Given the description of an element on the screen output the (x, y) to click on. 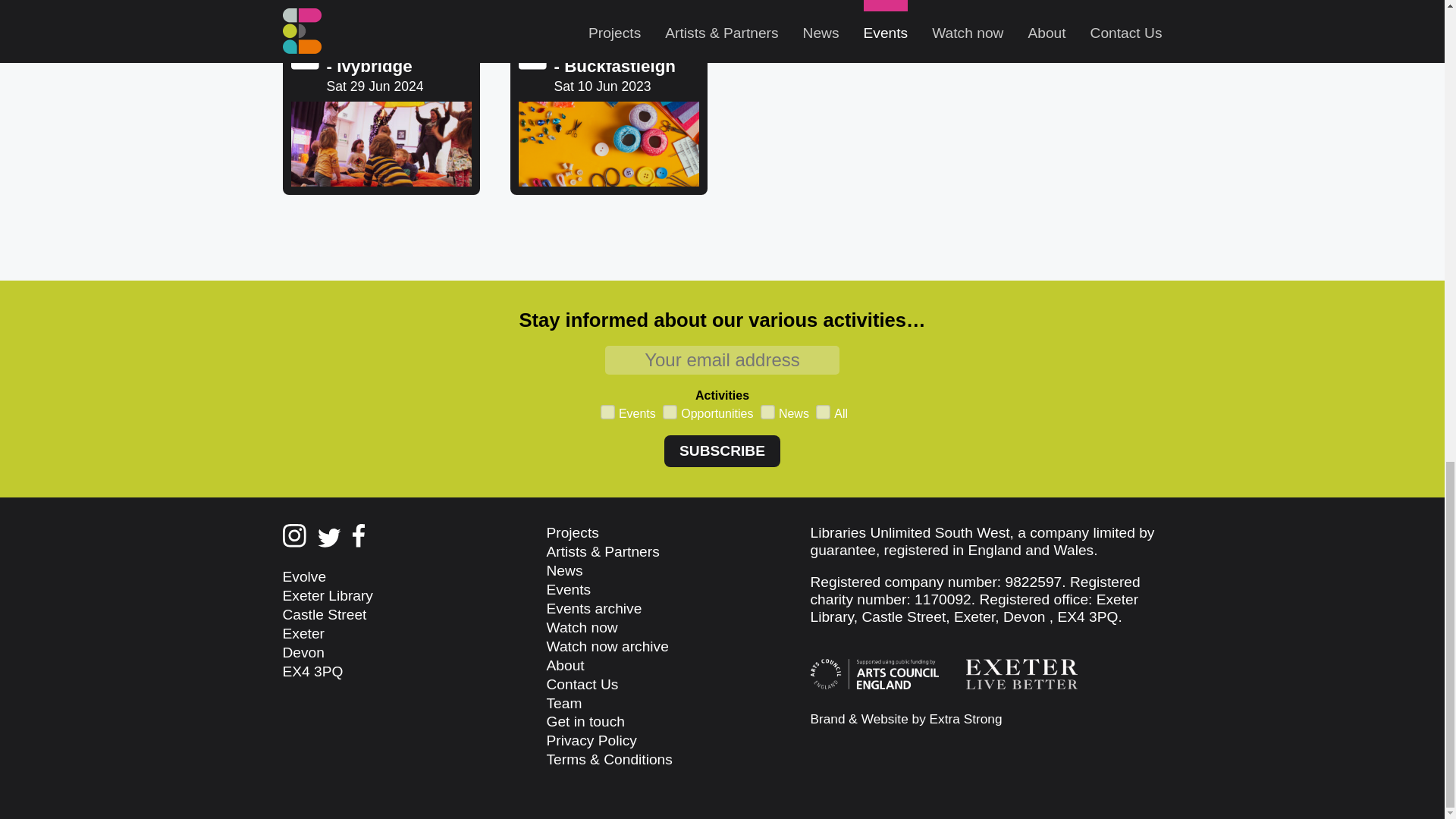
Watch now (581, 627)
Subscribe (721, 450)
Extra Strong (966, 718)
Privacy Policy (591, 740)
2 (667, 409)
4 (765, 409)
Events (568, 589)
Projects (572, 532)
Subscribe (721, 450)
Contact Us (581, 684)
Watch now archive (607, 113)
News (607, 646)
8 (380, 113)
